Given the description of an element on the screen output the (x, y) to click on. 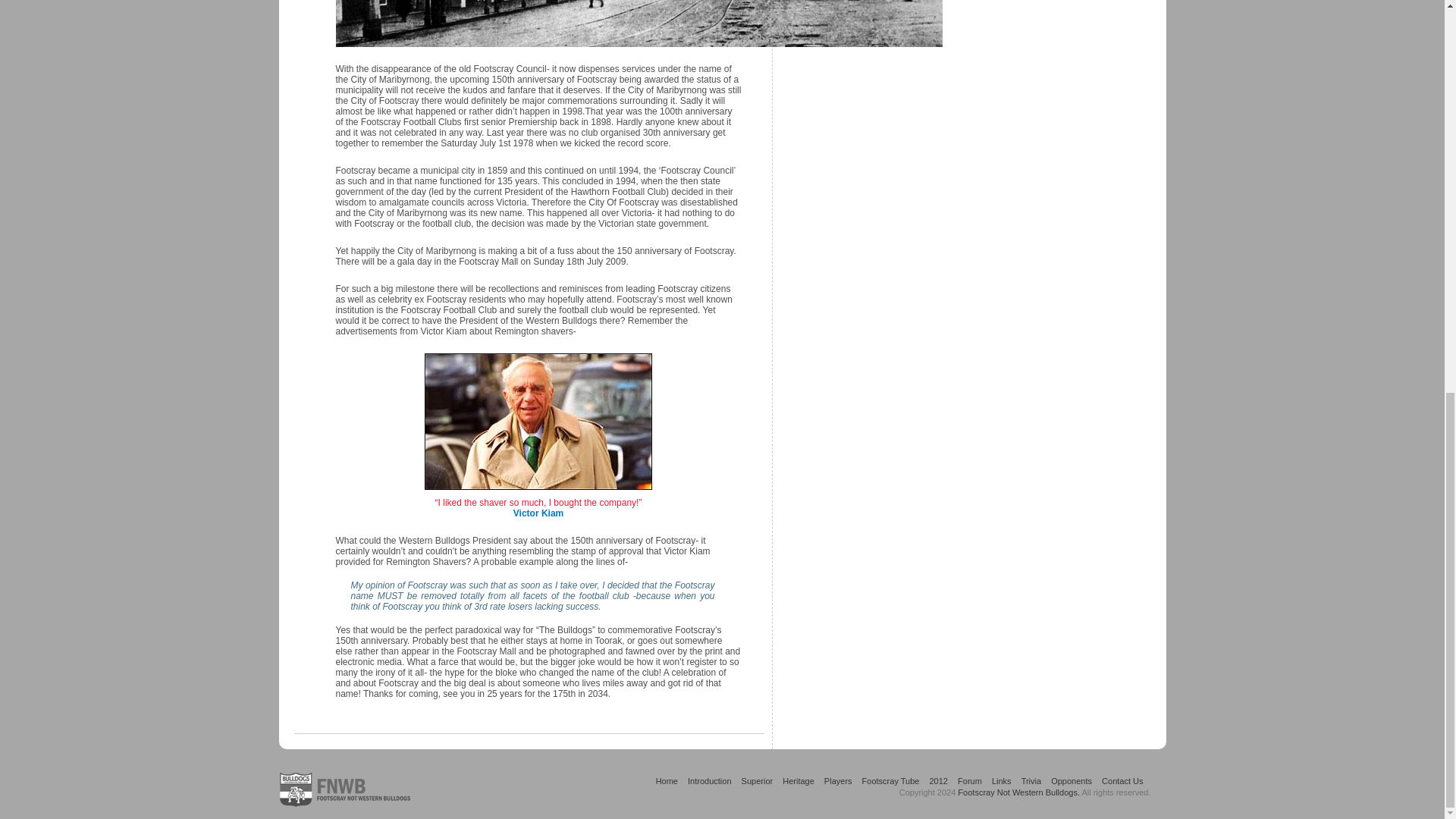
City of Footscray (638, 23)
Victor Kiam (538, 424)
